Given the description of an element on the screen output the (x, y) to click on. 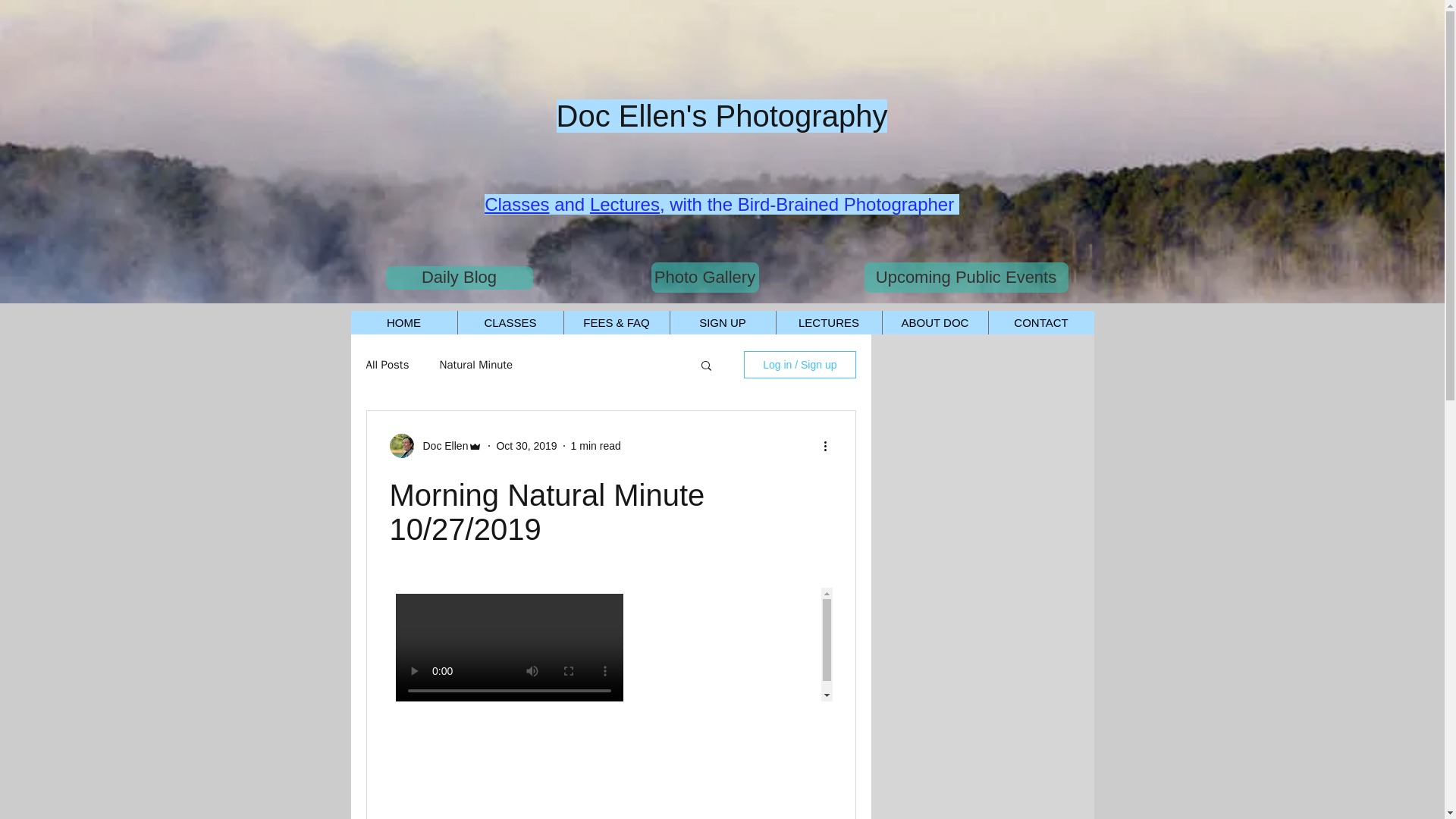
Natural Minute (475, 364)
ABOUT DOC (933, 322)
Classes and  (536, 204)
Doc Ellen's Photography (722, 115)
HOME (403, 322)
Doc Ellen (440, 446)
LECTURES (827, 322)
Oct 30, 2019 (526, 445)
1 min read (595, 445)
CONTACT (1040, 322)
CLASSES (509, 322)
Photo Gallery (704, 277)
Daily Blog (458, 277)
Upcoming Public Events (966, 277)
All Posts (387, 364)
